Given the description of an element on the screen output the (x, y) to click on. 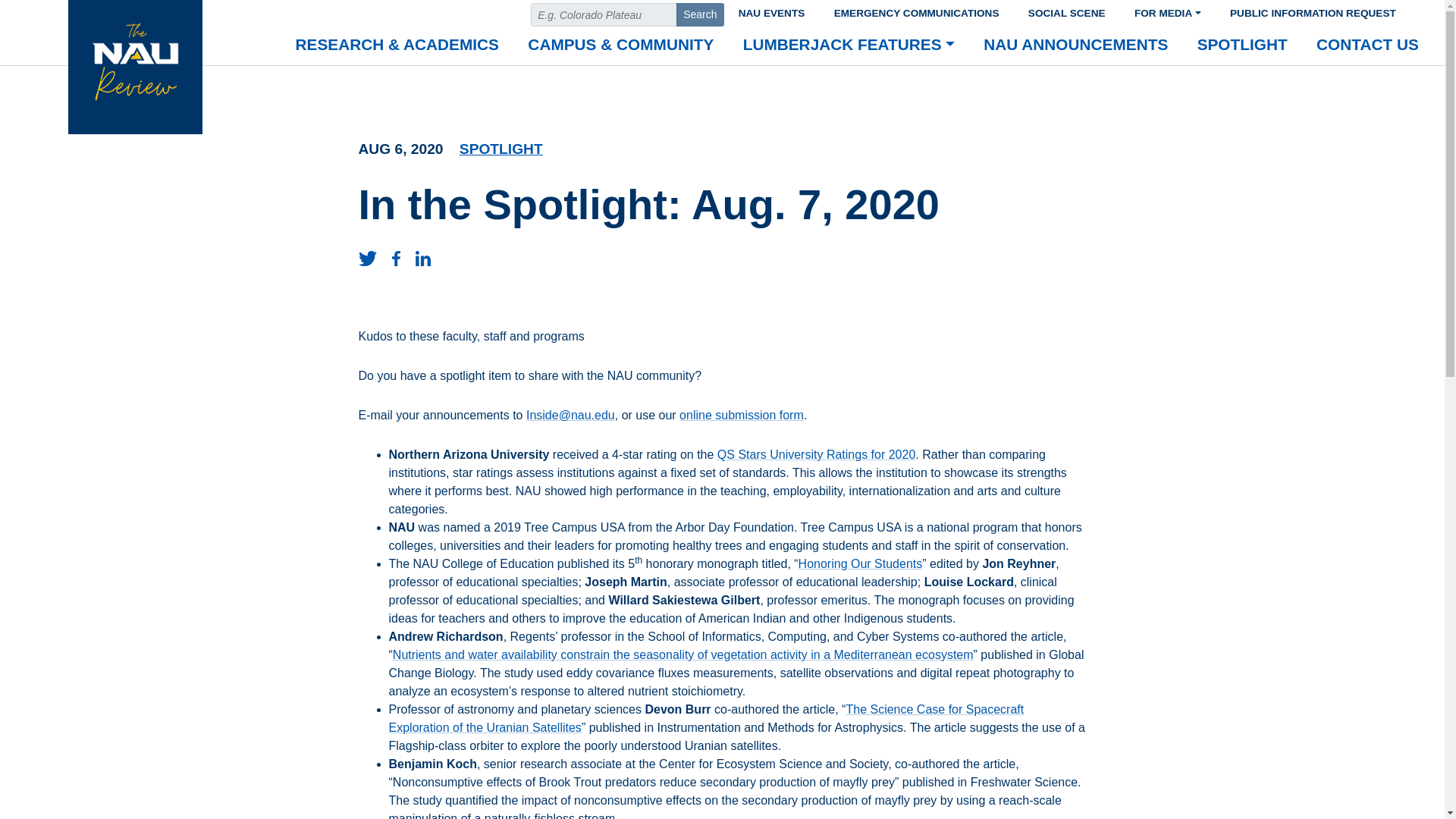
Honoring Our Students (860, 563)
Emergency Communications (915, 10)
CONTACT US (1366, 45)
EMERGENCY COMMUNICATIONS (915, 10)
Social Scene (1066, 10)
Public Information Request (1312, 10)
Search (700, 14)
SOCIAL SCENE (1066, 10)
For Media (1167, 10)
Lumberjack Features (848, 45)
Search (700, 14)
NAU EVENTS (770, 10)
LUMBERJACK FEATURES (848, 45)
NAU ANNOUNCEMENTS (1075, 45)
